Given the description of an element on the screen output the (x, y) to click on. 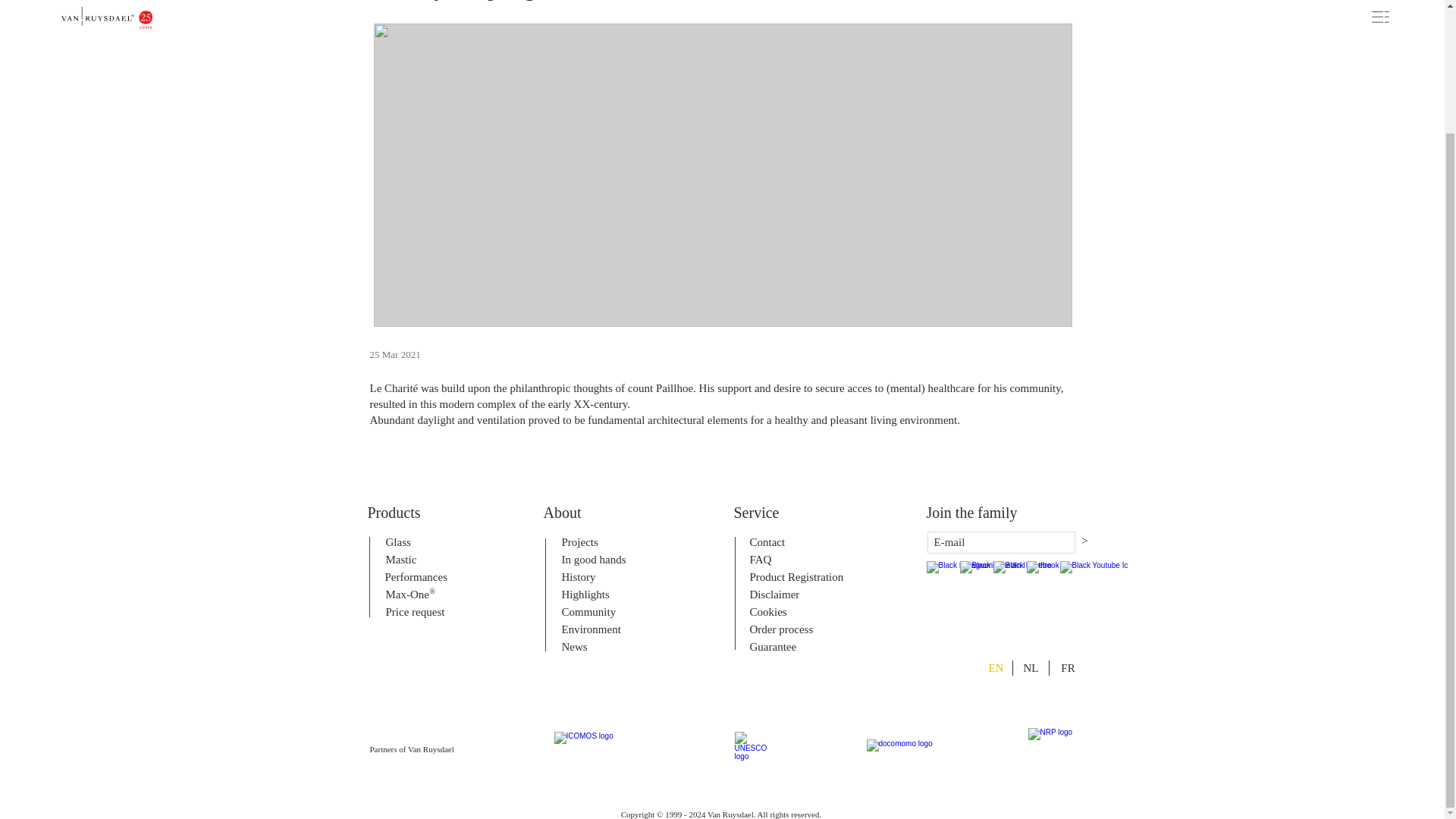
Projects (602, 541)
Guarantee (790, 646)
Contact (790, 541)
Mastic (426, 559)
Disclaimer (790, 594)
EN (995, 667)
News (602, 646)
Price request (426, 611)
Highlights (602, 594)
Performances (426, 576)
